Given the description of an element on the screen output the (x, y) to click on. 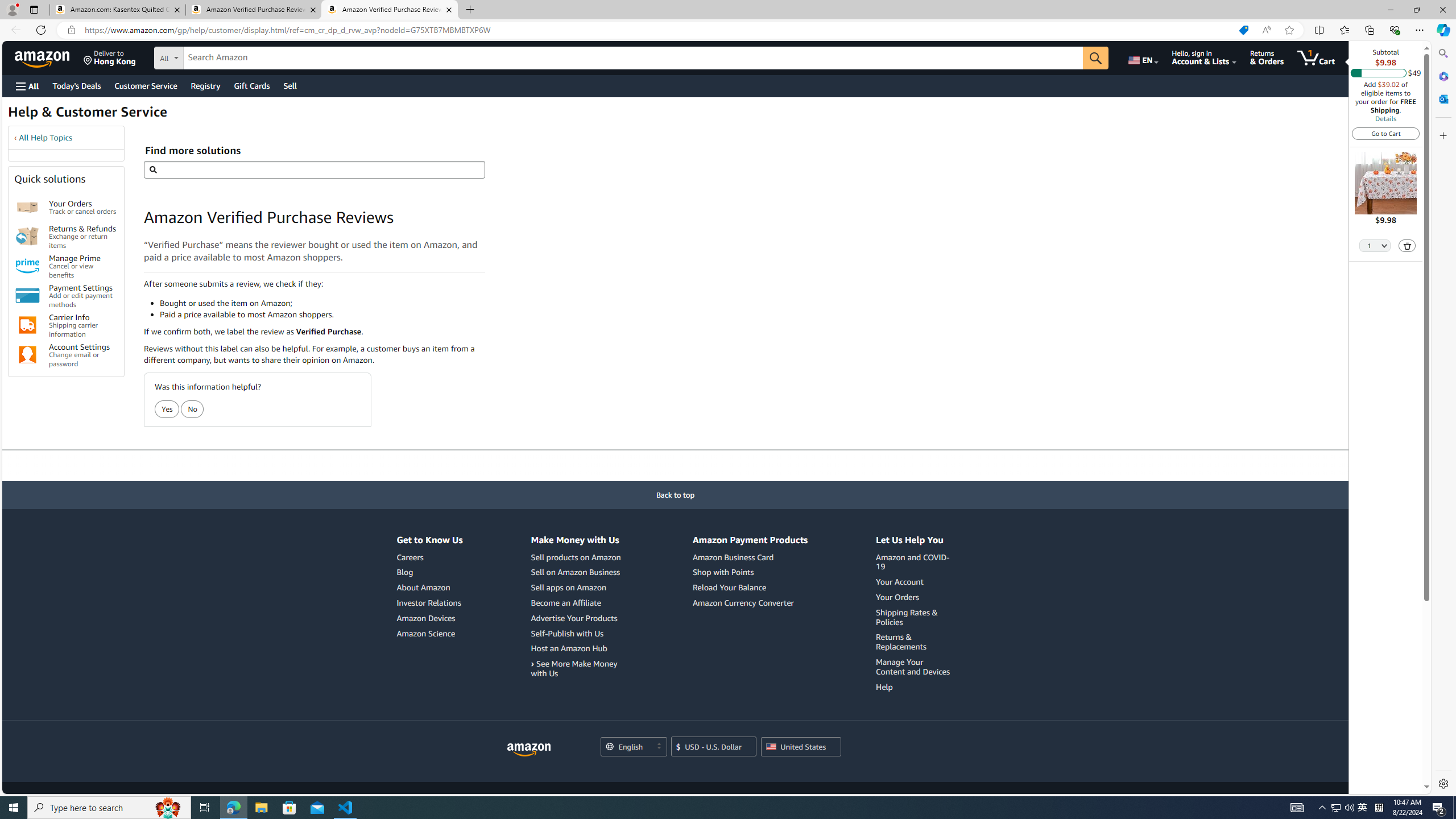
About Amazon (422, 587)
Reload Your Balance (729, 587)
Your Orders (897, 596)
Amazon (43, 57)
Help (884, 686)
Carrier Info (27, 325)
Search (1442, 53)
Your Orders Track or cancel orders (82, 207)
Address and search bar (658, 29)
Careers (409, 557)
Host an Amazon Hub (576, 648)
Go to Cart (1385, 133)
Add this page to favorites (Ctrl+D) (1289, 29)
Amazon Currency Converter (749, 602)
